Given the description of an element on the screen output the (x, y) to click on. 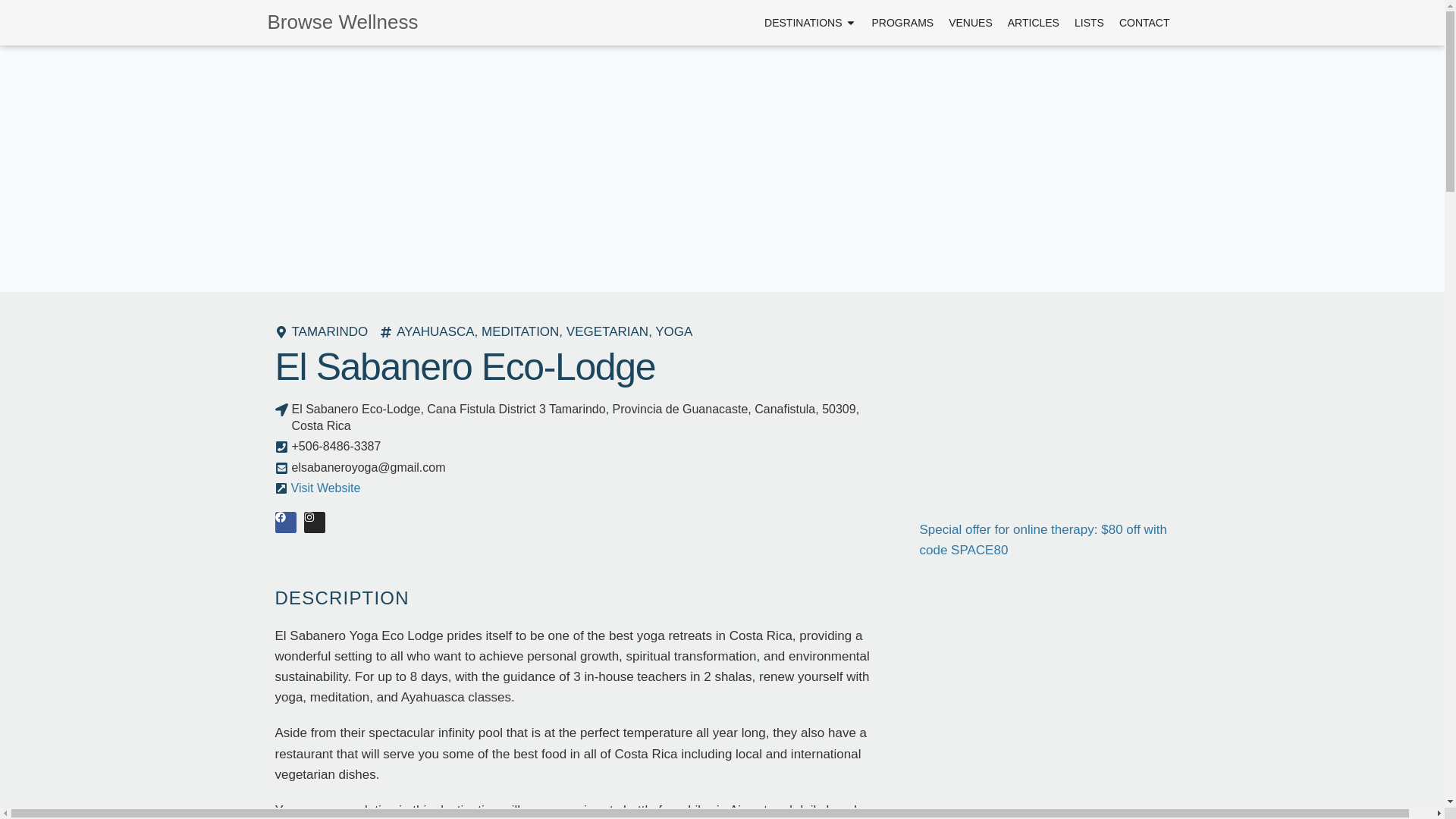
 Talkspace Logo - 300x250 (1032, 339)
DESTINATIONS (802, 23)
Browse Wellness (361, 22)
